Given the description of an element on the screen output the (x, y) to click on. 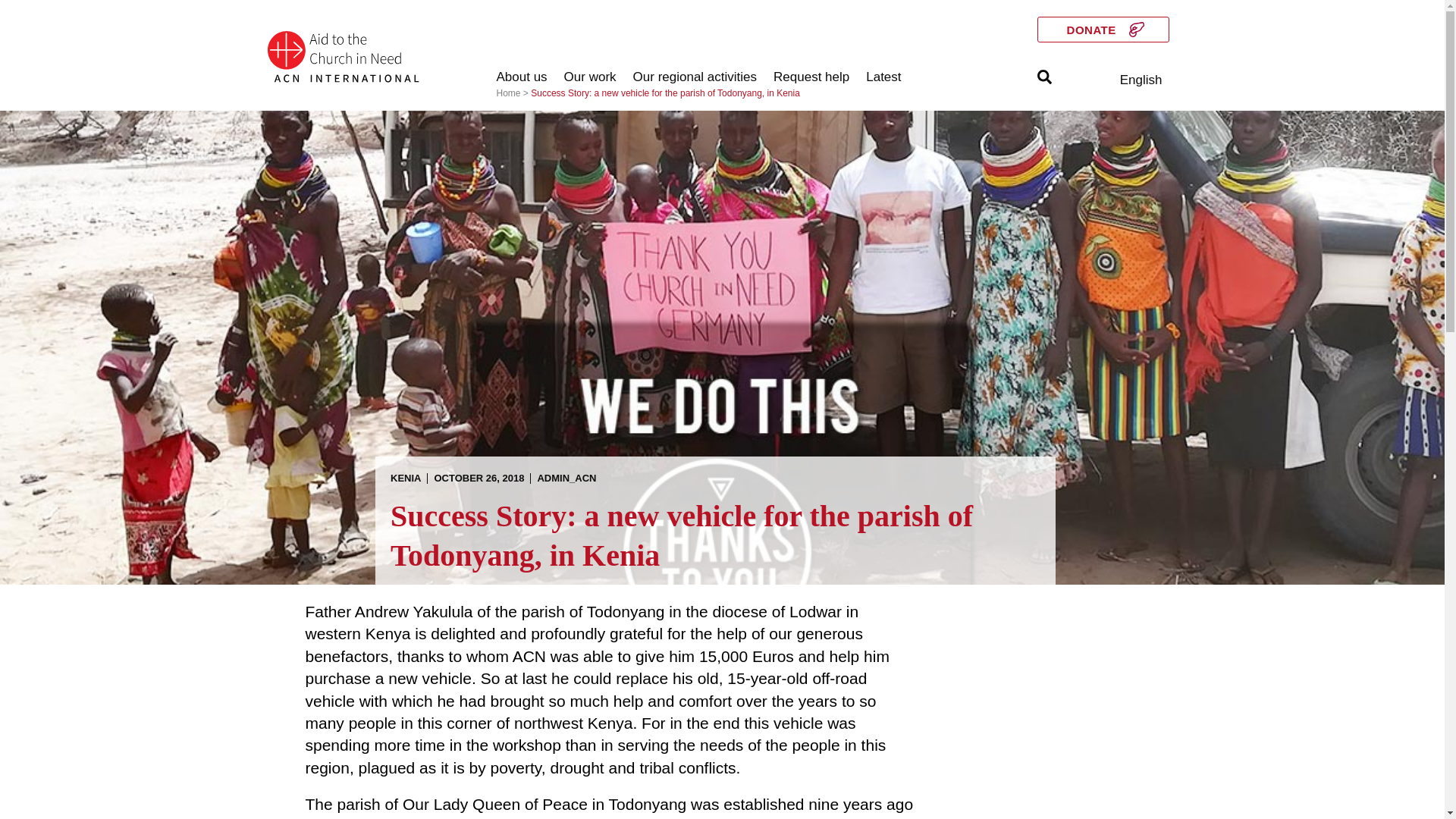
Our regional activities (695, 77)
Latest (883, 77)
Our work (589, 77)
Go to ACN International. (507, 92)
Request help (810, 77)
English (1141, 80)
About us (521, 77)
